Given the description of an element on the screen output the (x, y) to click on. 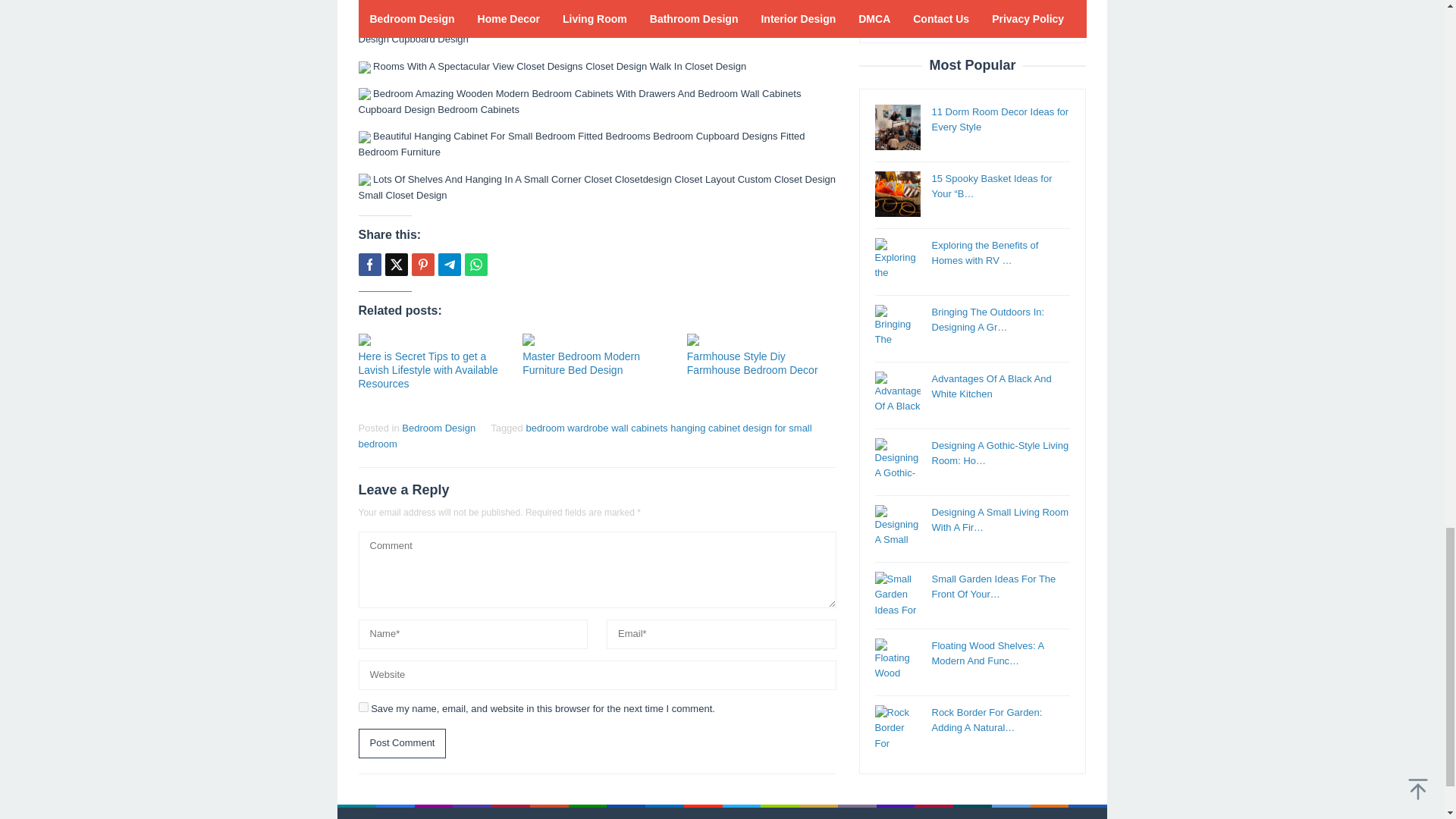
Share this (369, 264)
Permalink to: Master Bedroom Modern Furniture Bed Design (596, 339)
Post Comment (401, 743)
Tweet this (396, 264)
yes (363, 706)
Whatsapp (475, 264)
Permalink to: Master Bedroom Modern Furniture Bed Design (581, 362)
Telegram Share (449, 264)
Permalink to: Farmhouse Style Diy Farmhouse Bedroom Decor (761, 339)
Pin this (421, 264)
